Given the description of an element on the screen output the (x, y) to click on. 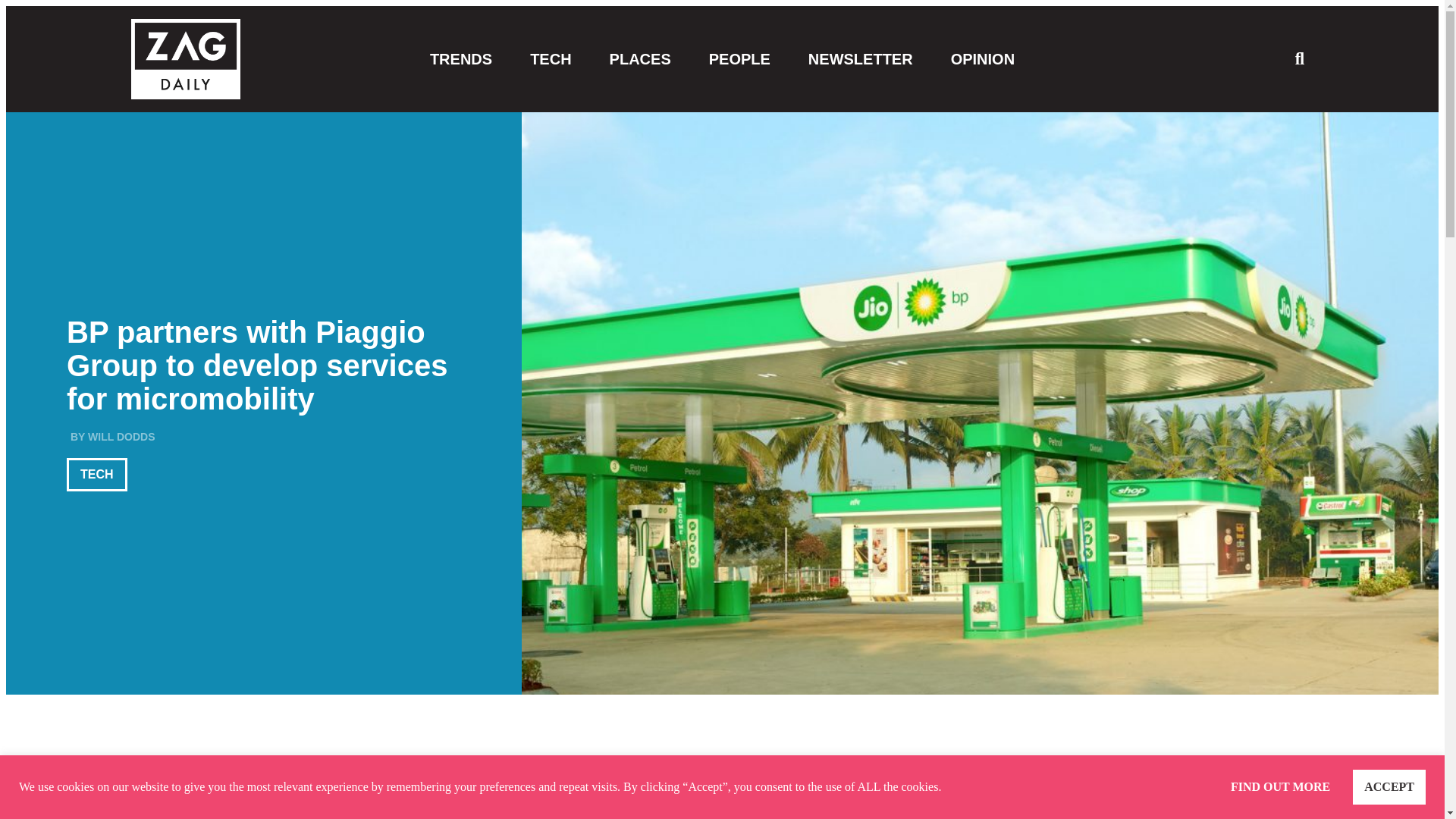
OPINION (982, 58)
PEOPLE (739, 58)
TECH (97, 474)
NEWSLETTER (860, 58)
TRENDS (460, 58)
PLACES (640, 58)
TECH (549, 58)
BY WILL DODDS (110, 436)
